Given the description of an element on the screen output the (x, y) to click on. 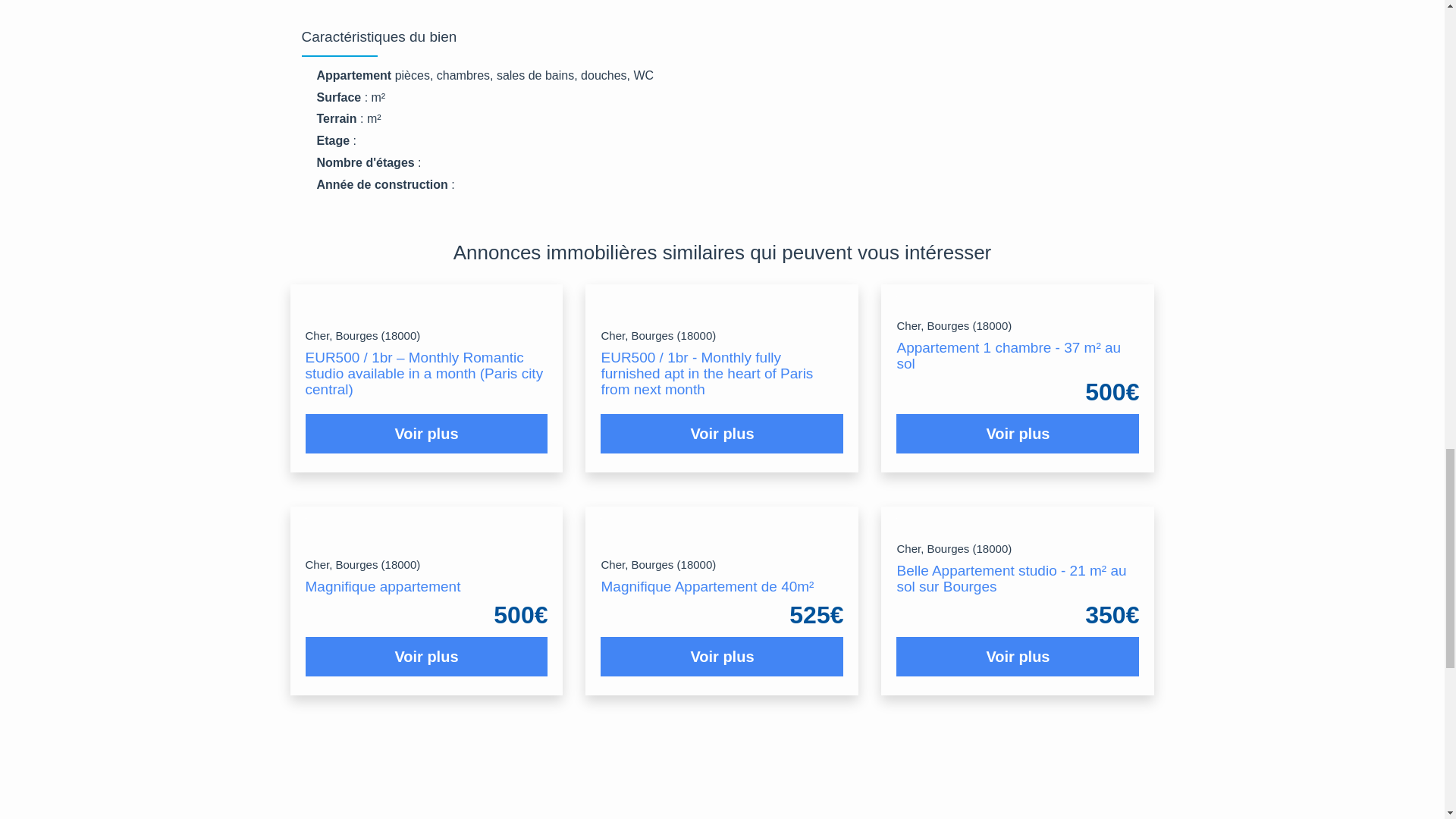
Voir plus (722, 433)
Voir plus (426, 656)
Voir plus (426, 433)
Magnifique appartement (382, 586)
Voir plus (1017, 433)
